Given the description of an element on the screen output the (x, y) to click on. 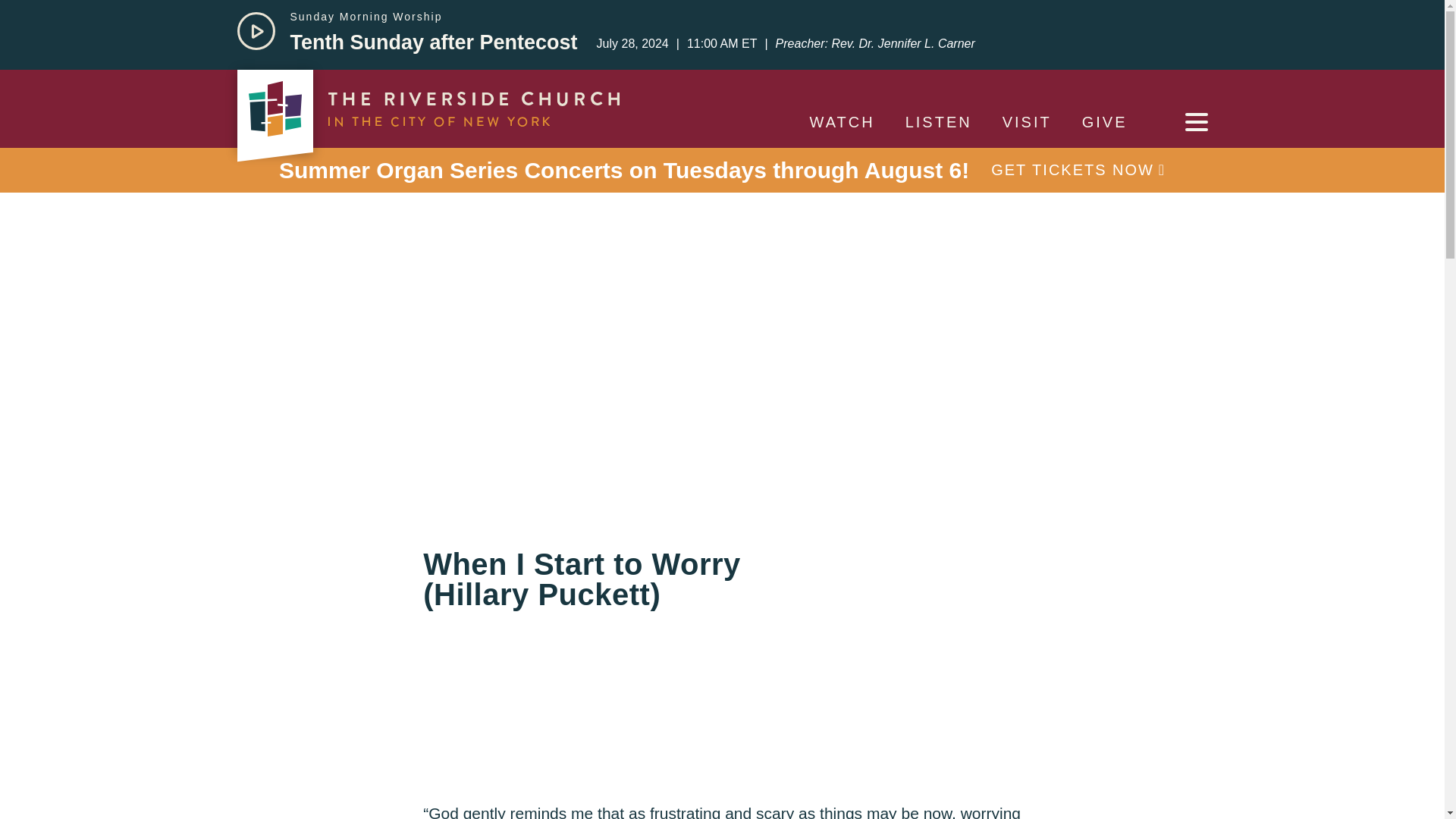
WATCH (841, 121)
VISIT (1027, 121)
GIVE (1104, 121)
LISTEN (938, 121)
Search (56, 18)
